Given the description of an element on the screen output the (x, y) to click on. 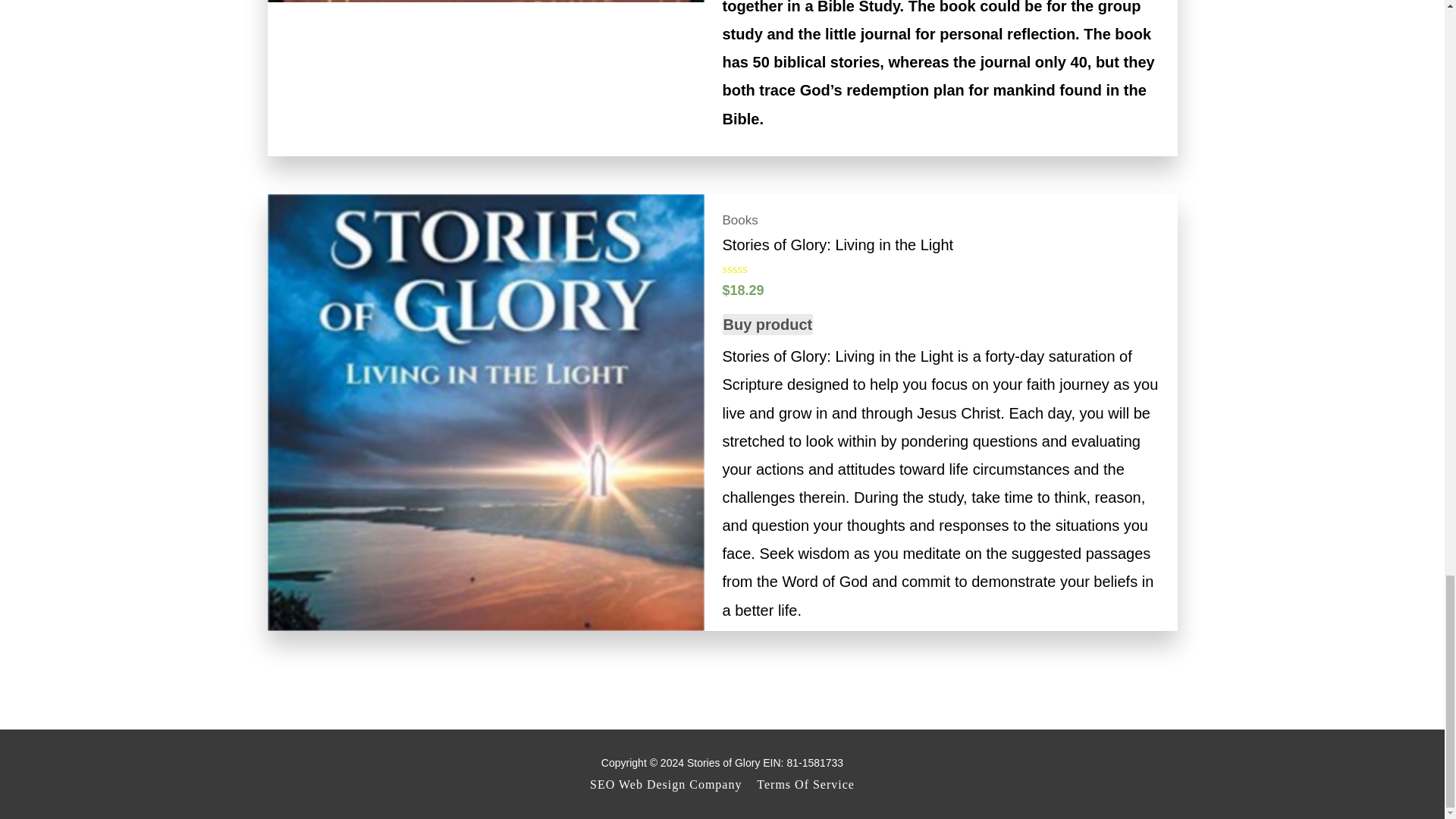
Stories of Glory: Living in the Light (940, 244)
Terms Of Service (802, 784)
SEO Web Design Company (668, 784)
Buy product (767, 323)
